Given the description of an element on the screen output the (x, y) to click on. 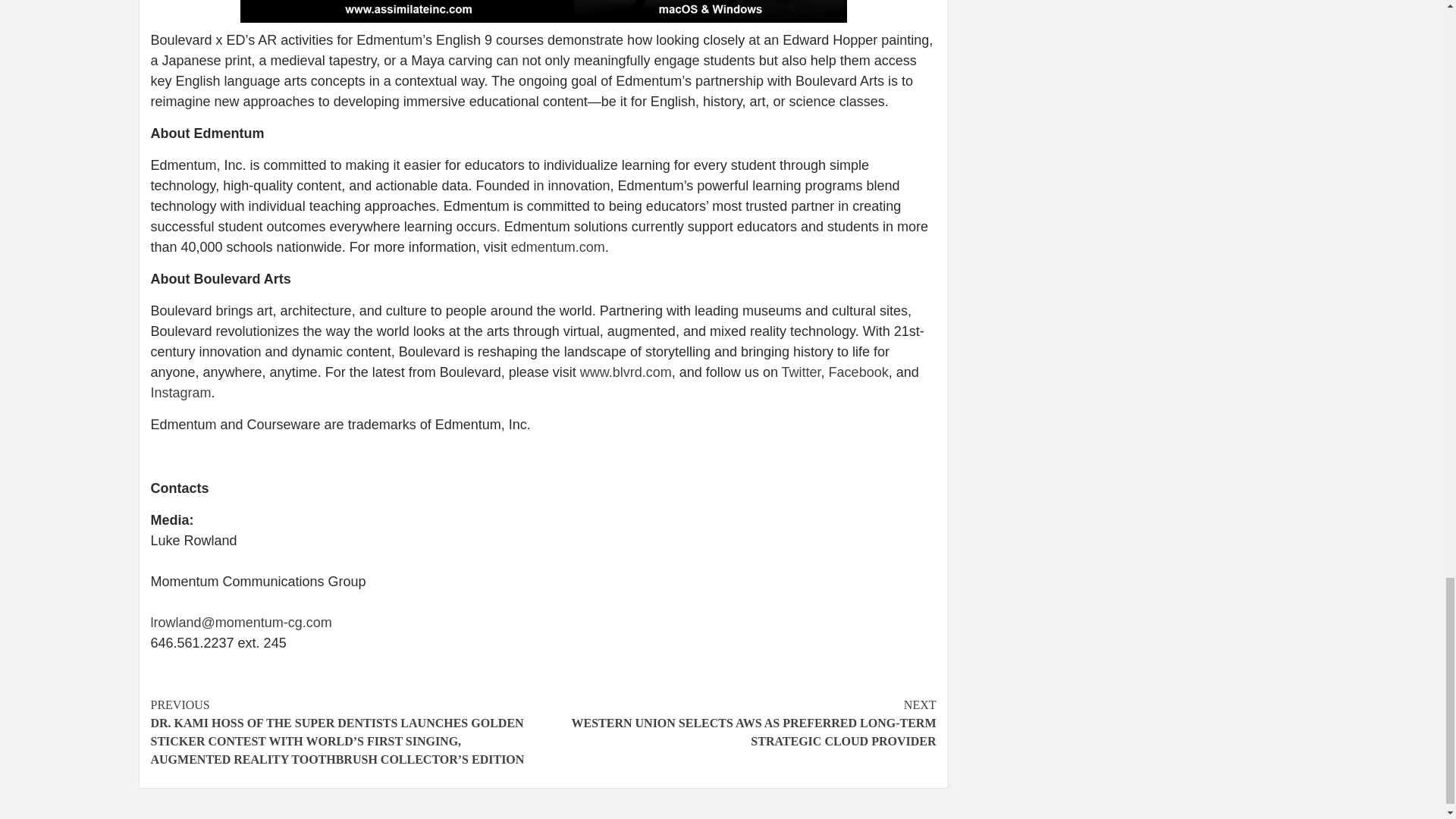
Facebook (858, 372)
edmentum.com (558, 246)
www.blvrd.com (625, 372)
Instagram (180, 392)
Twitter (801, 372)
